Given the description of an element on the screen output the (x, y) to click on. 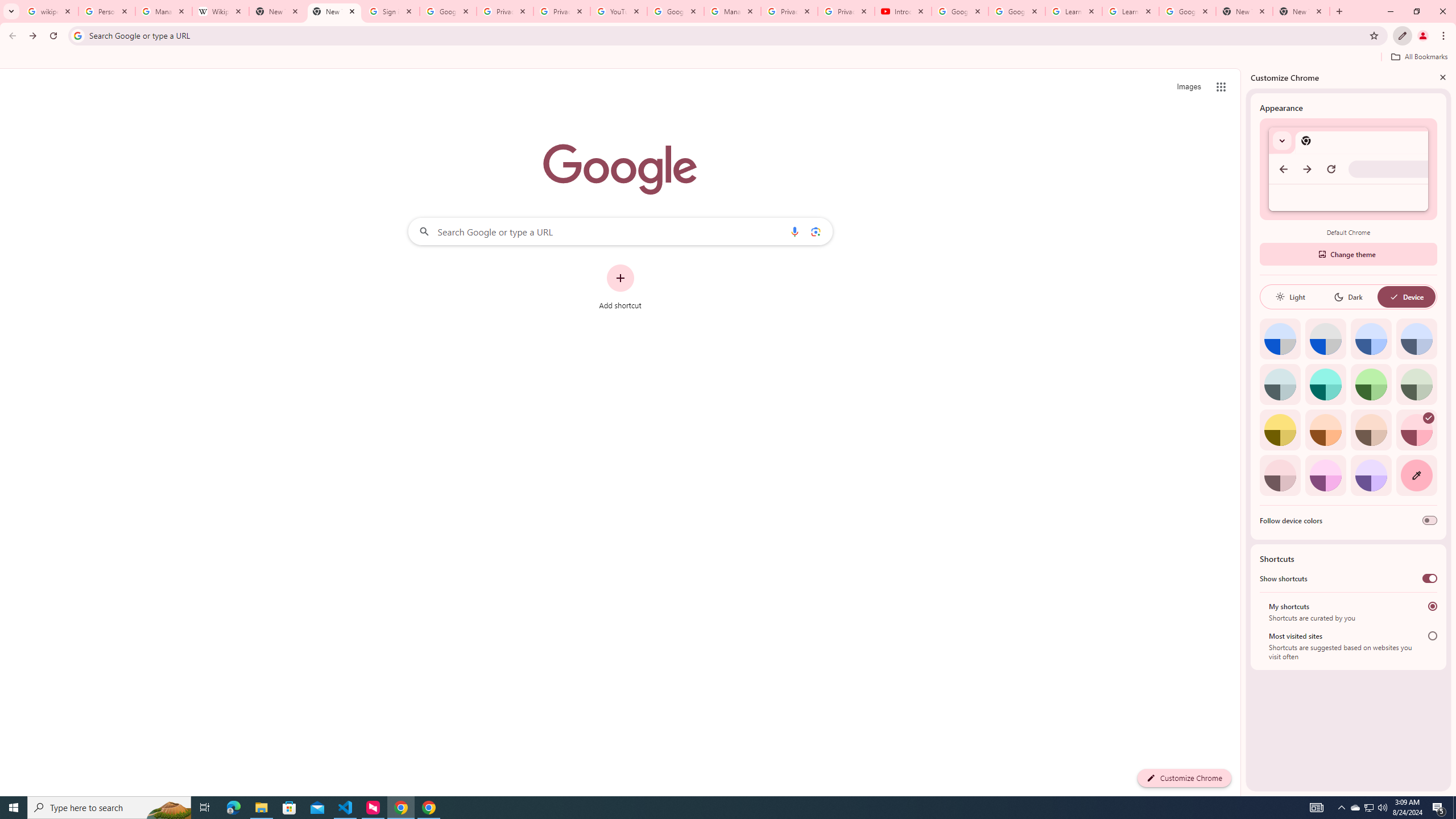
Sign in - Google Accounts (391, 11)
